Given the description of an element on the screen output the (x, y) to click on. 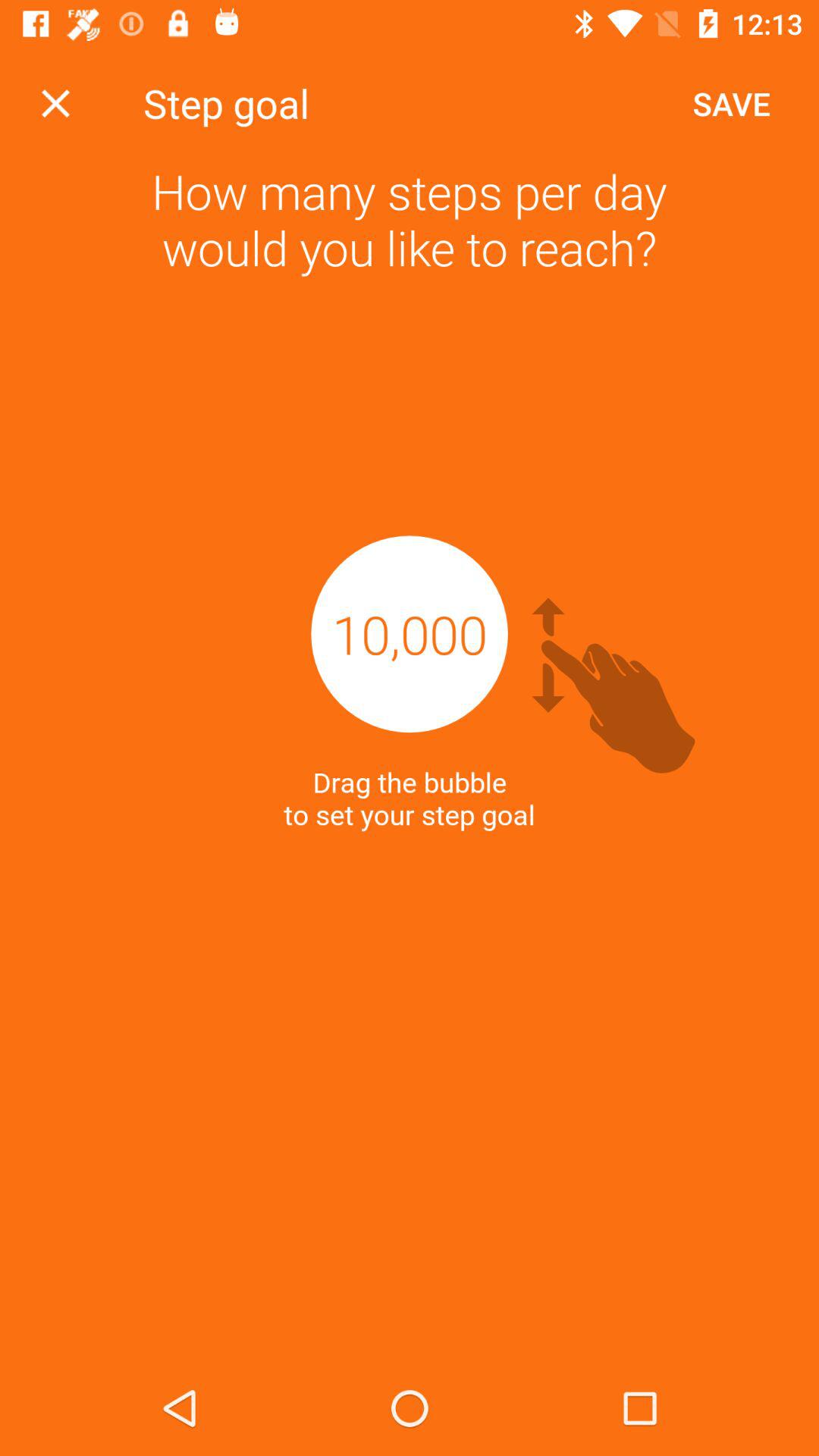
close screen (55, 103)
